Given the description of an element on the screen output the (x, y) to click on. 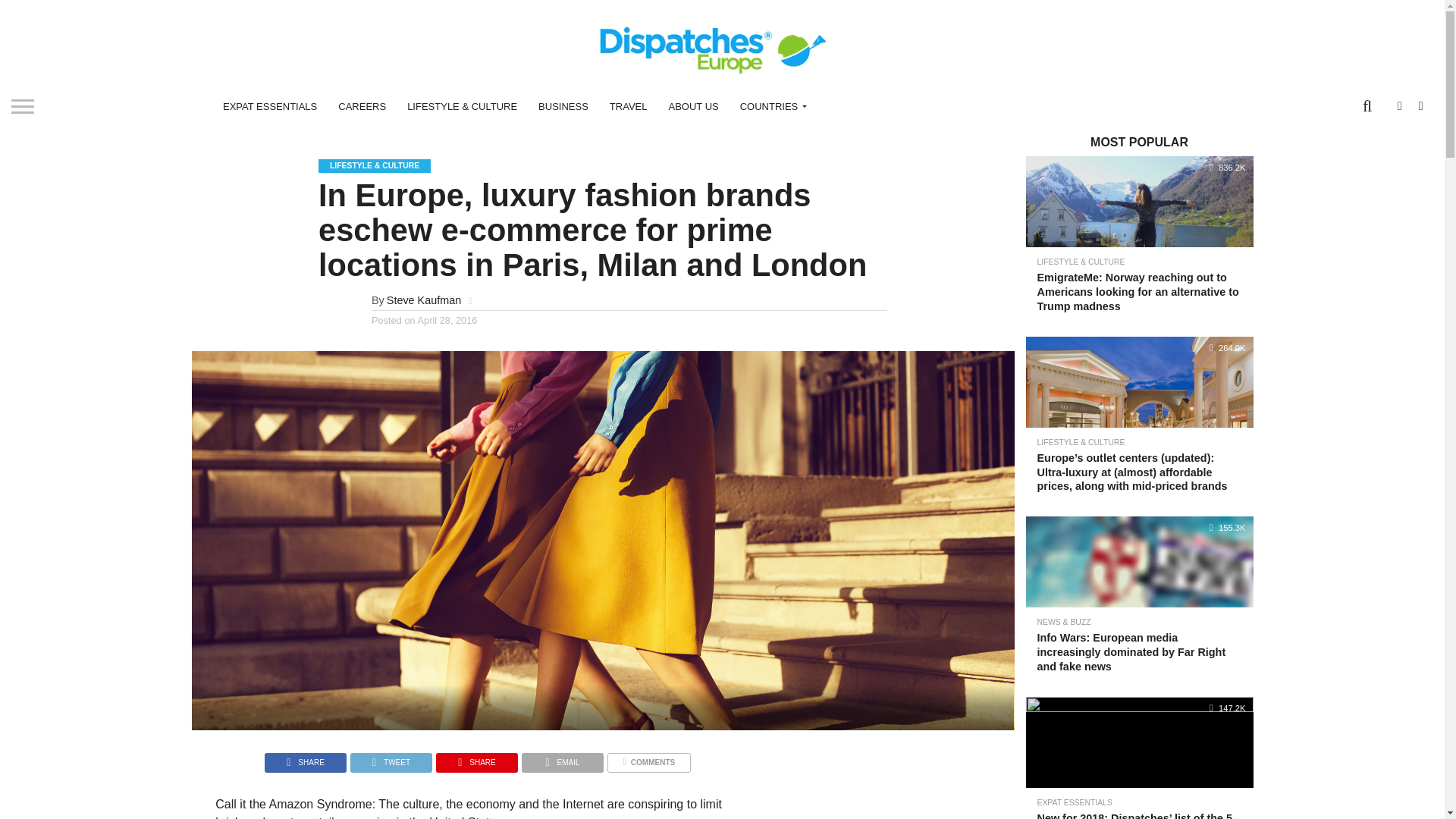
ABOUT US (693, 105)
COUNTRIES (769, 105)
CAREERS (361, 105)
Share on Facebook (305, 758)
BUSINESS (562, 105)
TRAVEL (628, 105)
Pin This Post (476, 758)
Tweet This Post (390, 758)
EXPAT ESSENTIALS (269, 105)
